Given the description of an element on the screen output the (x, y) to click on. 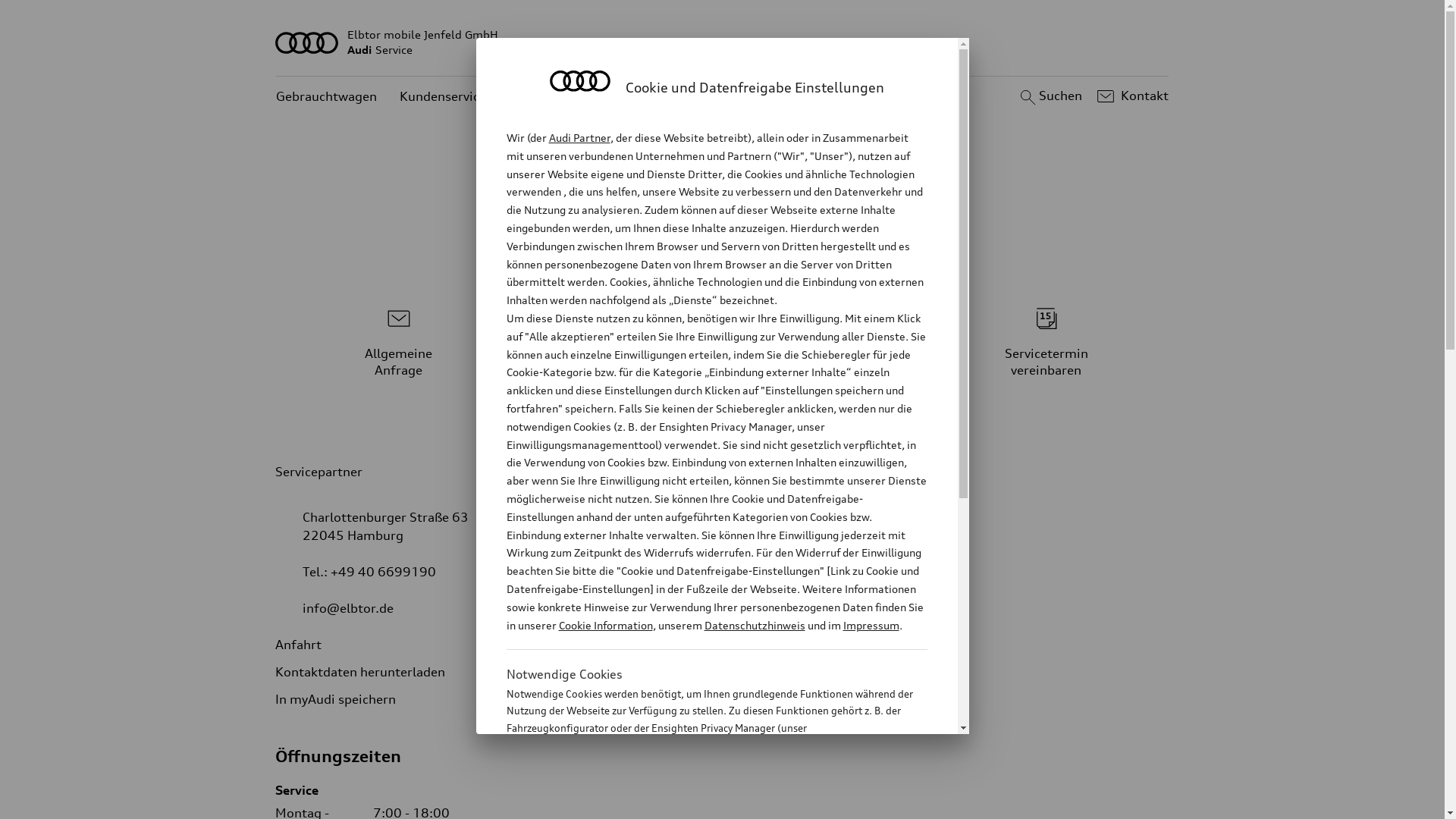
+49 40 6699190 Element type: text (383, 571)
Cookie Information Element type: text (605, 624)
Audi Partner Element type: text (579, 137)
Kundenservice Element type: text (442, 96)
Kontakt Element type: text (1130, 96)
Cookie Information Element type: text (700, 802)
Datenschutzhinweis Element type: text (753, 624)
info@elbtor.de Element type: text (347, 608)
Anfahrt Element type: text (309, 644)
Elbtor mobile Jenfeld GmbH
AudiService Element type: text (722, 42)
Servicetermin
vereinbaren Element type: text (1046, 338)
Kontaktdaten herunterladen Element type: text (371, 671)
Allgemeine
Anfrage Element type: text (398, 338)
Impressum Element type: text (871, 624)
In myAudi speichern Element type: text (346, 699)
Serviceberater
kontaktieren Element type: text (722, 338)
Suchen Element type: text (1049, 96)
Gebrauchtwagen Element type: text (326, 96)
